Given the description of an element on the screen output the (x, y) to click on. 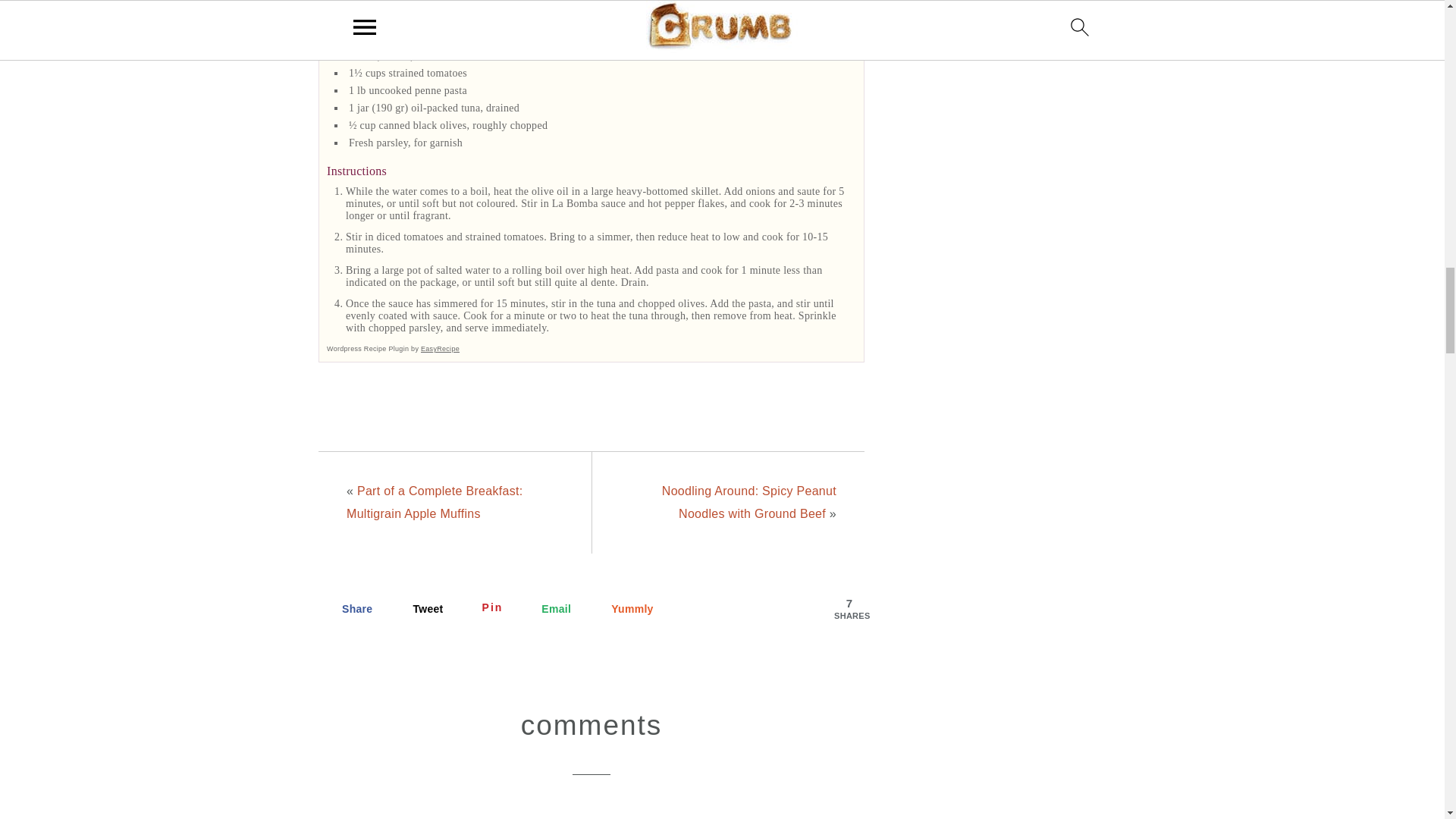
Save to Pinterest (484, 608)
EasyRecipe Wordpress Recipe Plugin (393, 348)
Share on X (418, 608)
Share on Yummly (624, 608)
Send over email (548, 608)
Part of a Complete Breakfast: Multigrain Apple Muffins (434, 502)
Share on Facebook (348, 608)
Wordpress Recipe Plugin by EasyRecipe (393, 348)
